Given the description of an element on the screen output the (x, y) to click on. 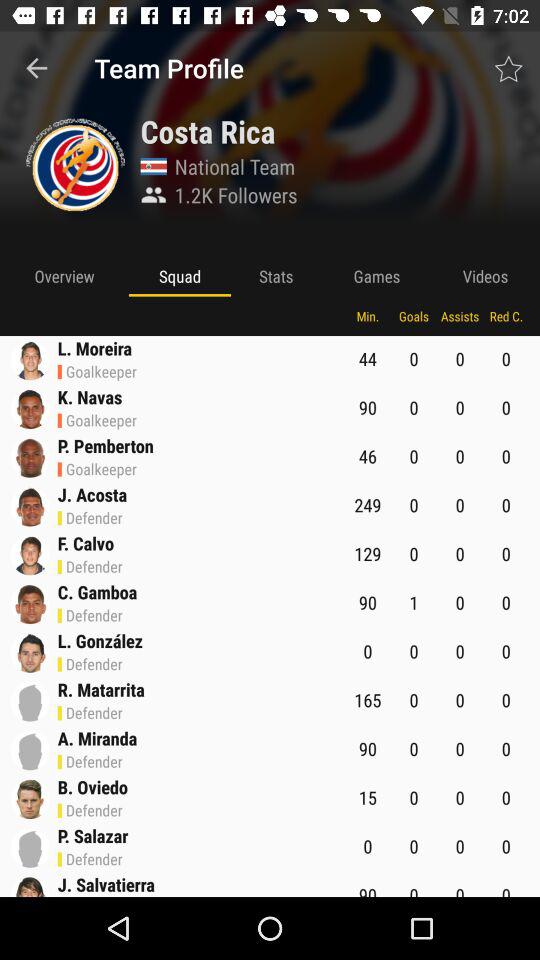
turn off app next to the stats item (179, 276)
